Given the description of an element on the screen output the (x, y) to click on. 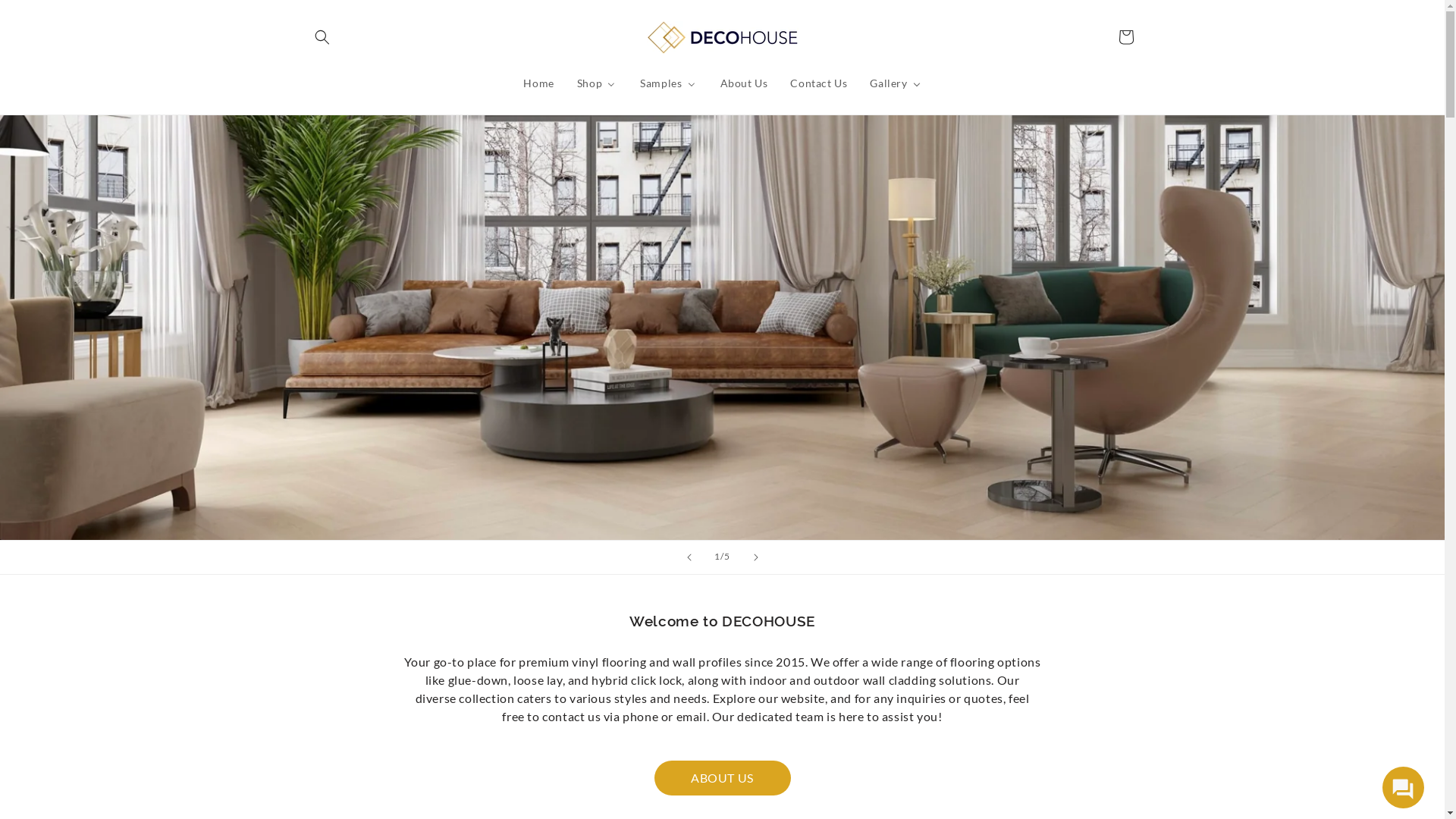
Home Element type: text (537, 82)
Contact Us Element type: text (817, 82)
About Us Element type: text (743, 82)
Shop Element type: text (595, 82)
Cart Element type: text (1125, 36)
Samples Element type: text (667, 82)
Gallery Element type: text (894, 82)
ABOUT US Element type: text (721, 777)
